Given the description of an element on the screen output the (x, y) to click on. 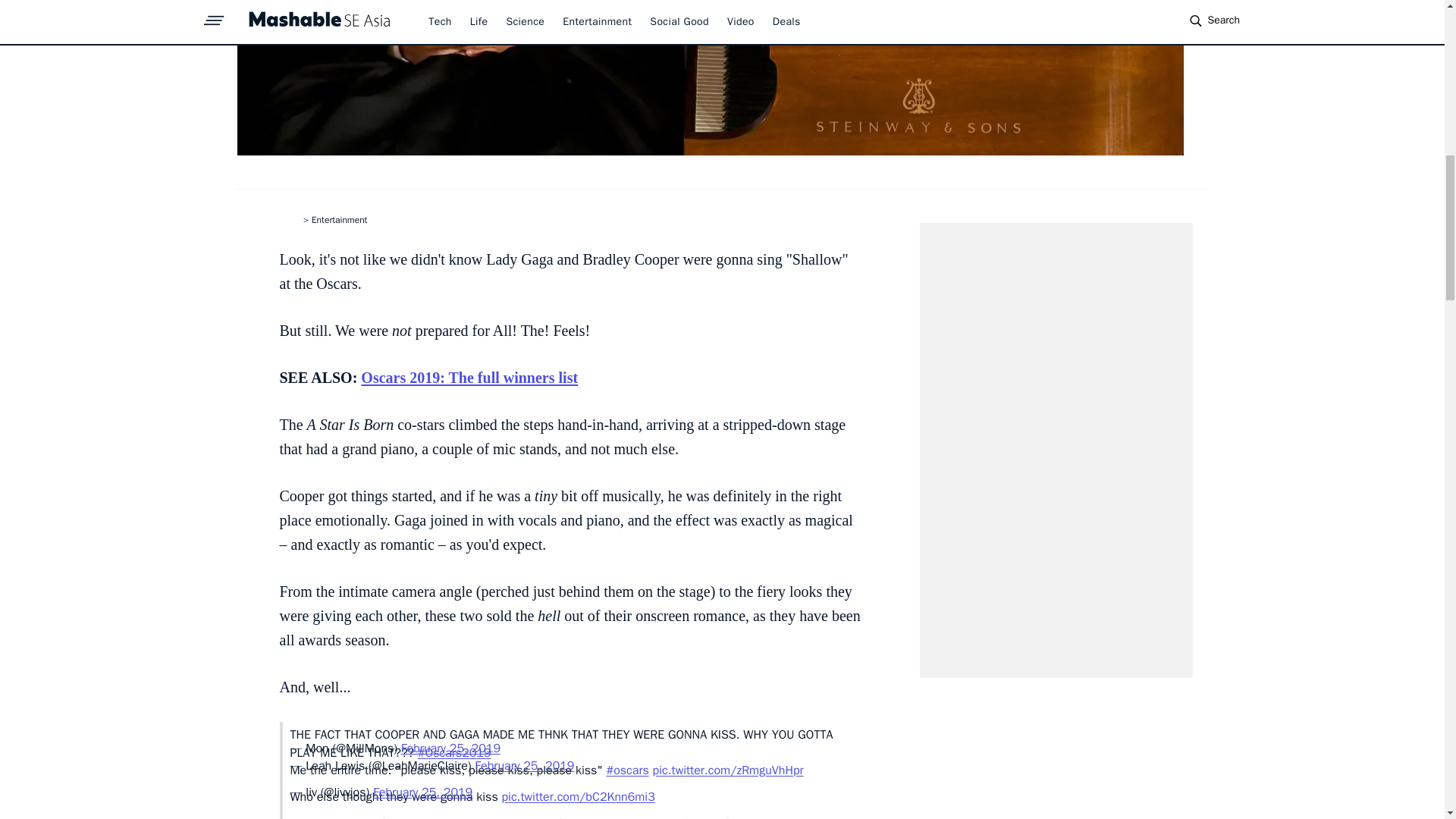
February 25, 2019 (450, 748)
Oscars 2019: The full winners list (469, 377)
February 25, 2019 (421, 792)
February 25, 2019 (523, 765)
